Given the description of an element on the screen output the (x, y) to click on. 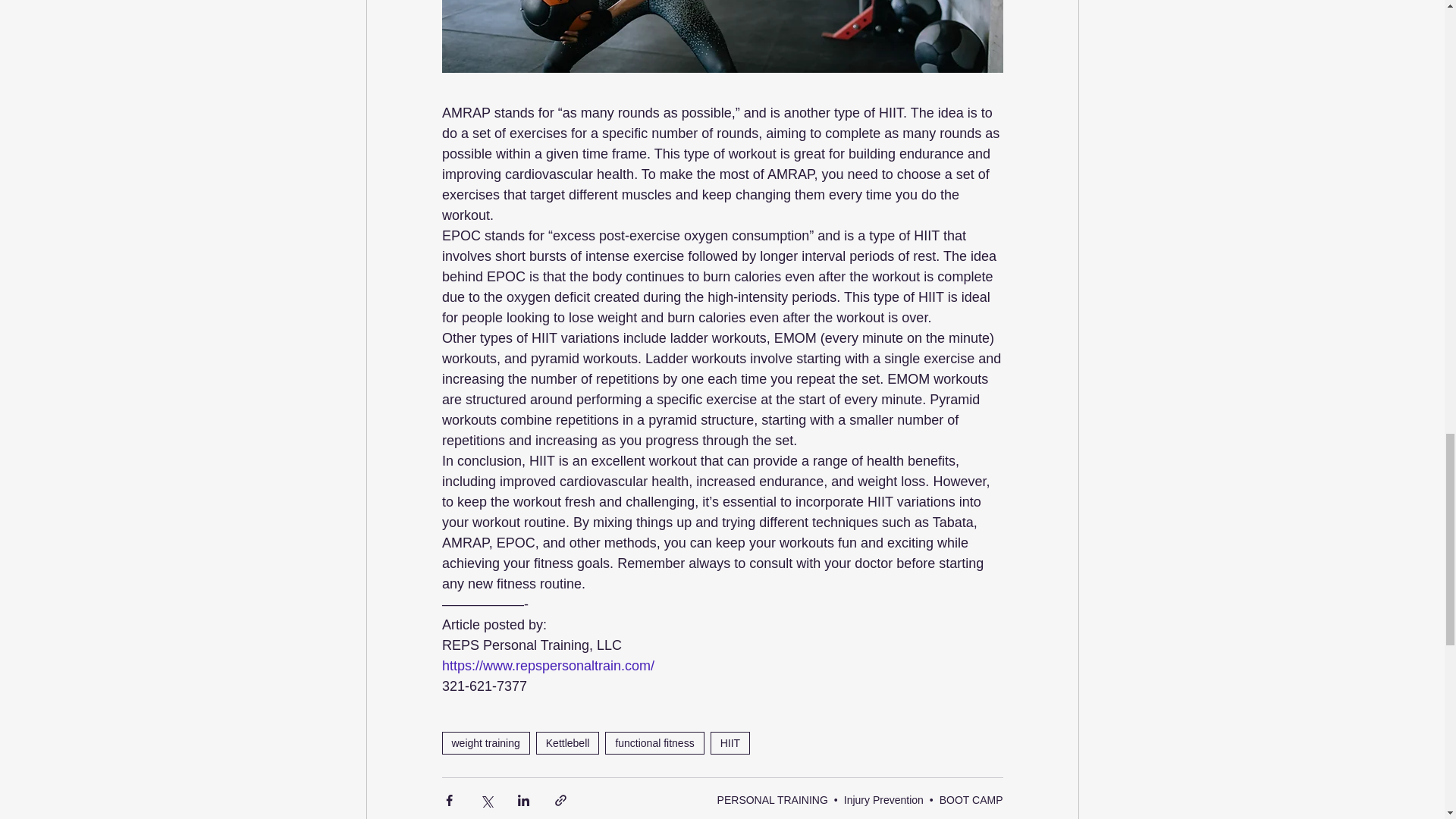
functional fitness (654, 743)
HIIT (729, 743)
Kettlebell (567, 743)
weight training (485, 743)
